Given the description of an element on the screen output the (x, y) to click on. 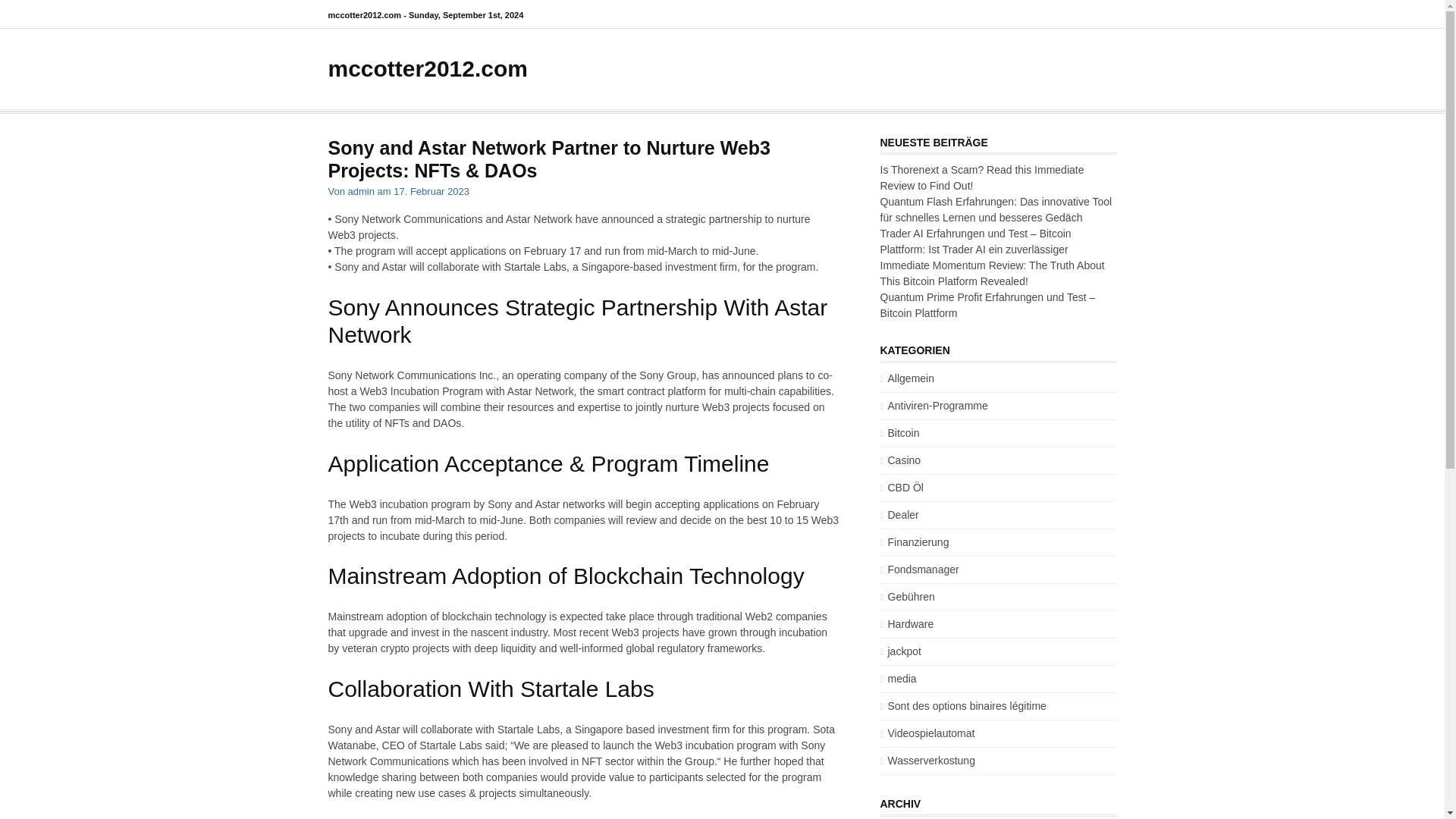
Allgemein (906, 378)
Is Thorenext a Scam? Read this Immediate Review to Find Out! (981, 177)
17. Februar 2023 (430, 190)
Wasserverkostung (926, 760)
mccotter2012.com (427, 68)
Hardware (906, 623)
Fondsmanager (918, 569)
admin (360, 190)
jackpot (899, 651)
